Given the description of an element on the screen output the (x, y) to click on. 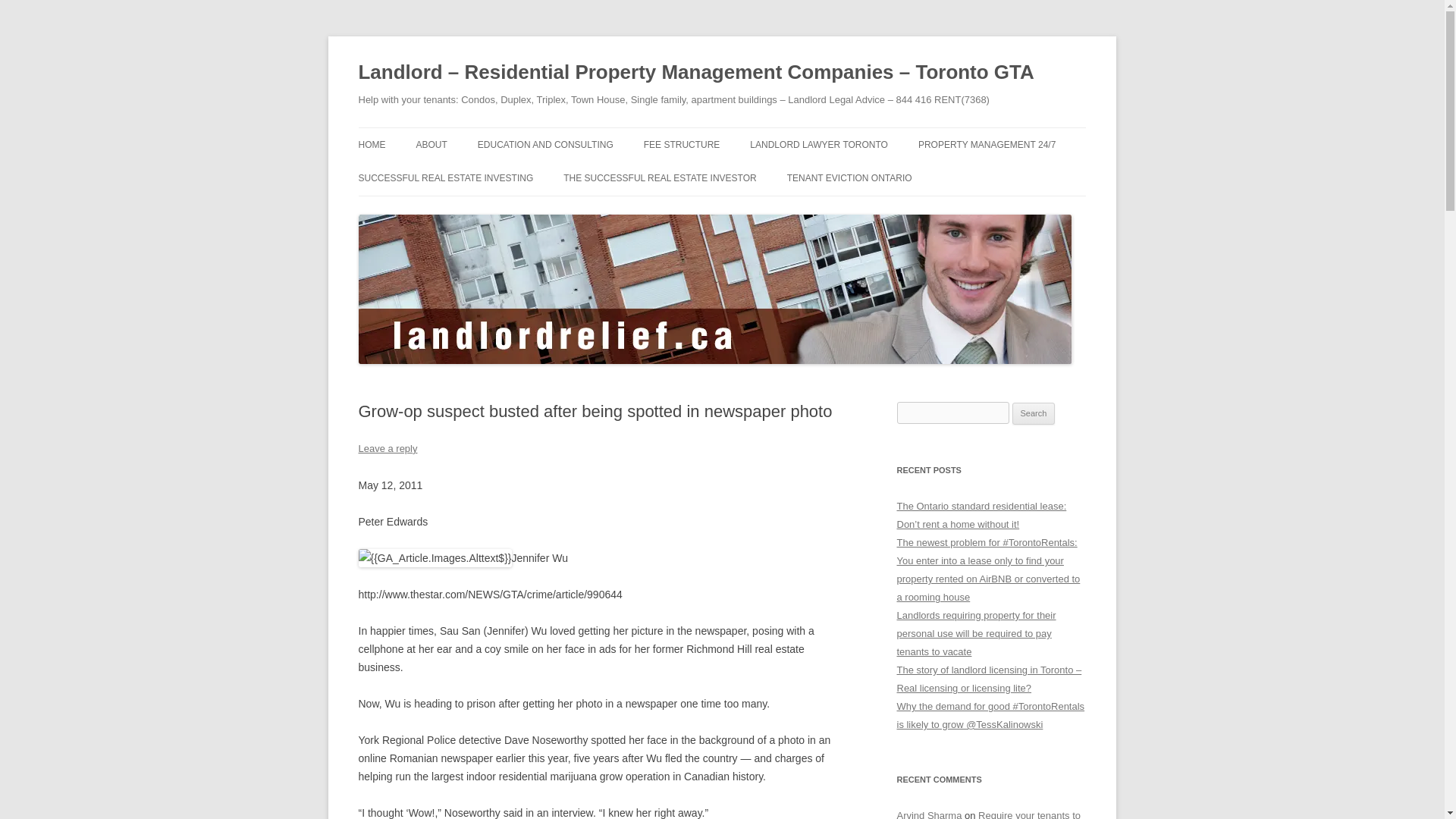
SUCCESSFUL REAL ESTATE INVESTING (445, 177)
TENANT EVICTION ONTARIO (849, 177)
Leave a reply (387, 448)
APPEALING YOUR PROPERTY TAXES IN ONTARIO (552, 185)
ABOUT (430, 144)
LANDLORD LAWYER TORONTO (818, 144)
THE SUCCESSFUL REAL ESTATE INVESTOR (660, 177)
EDUCATION AND CONSULTING (544, 144)
Search (1033, 413)
MORTGAGE METHODS (433, 210)
ENSURING HIGH OCCUPANCY (994, 176)
FEE STRUCTURE (681, 144)
